Given the description of an element on the screen output the (x, y) to click on. 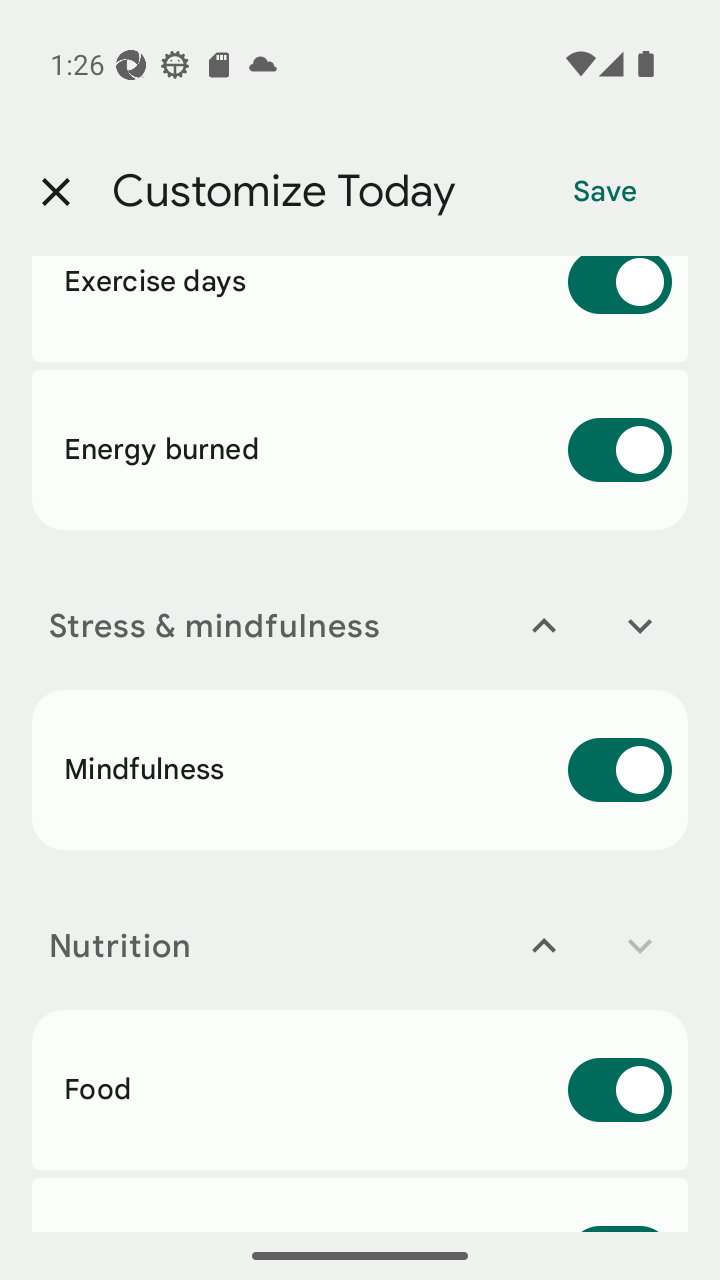
Close (55, 191)
Save (605, 191)
Exercise days (359, 309)
Energy burned (359, 449)
Move Stress & mindfulness up (543, 626)
Move Stress & mindfulness down (639, 626)
Mindfulness (359, 769)
Move Nutrition up (543, 946)
Move Nutrition down (639, 946)
Food (359, 1089)
